Given the description of an element on the screen output the (x, y) to click on. 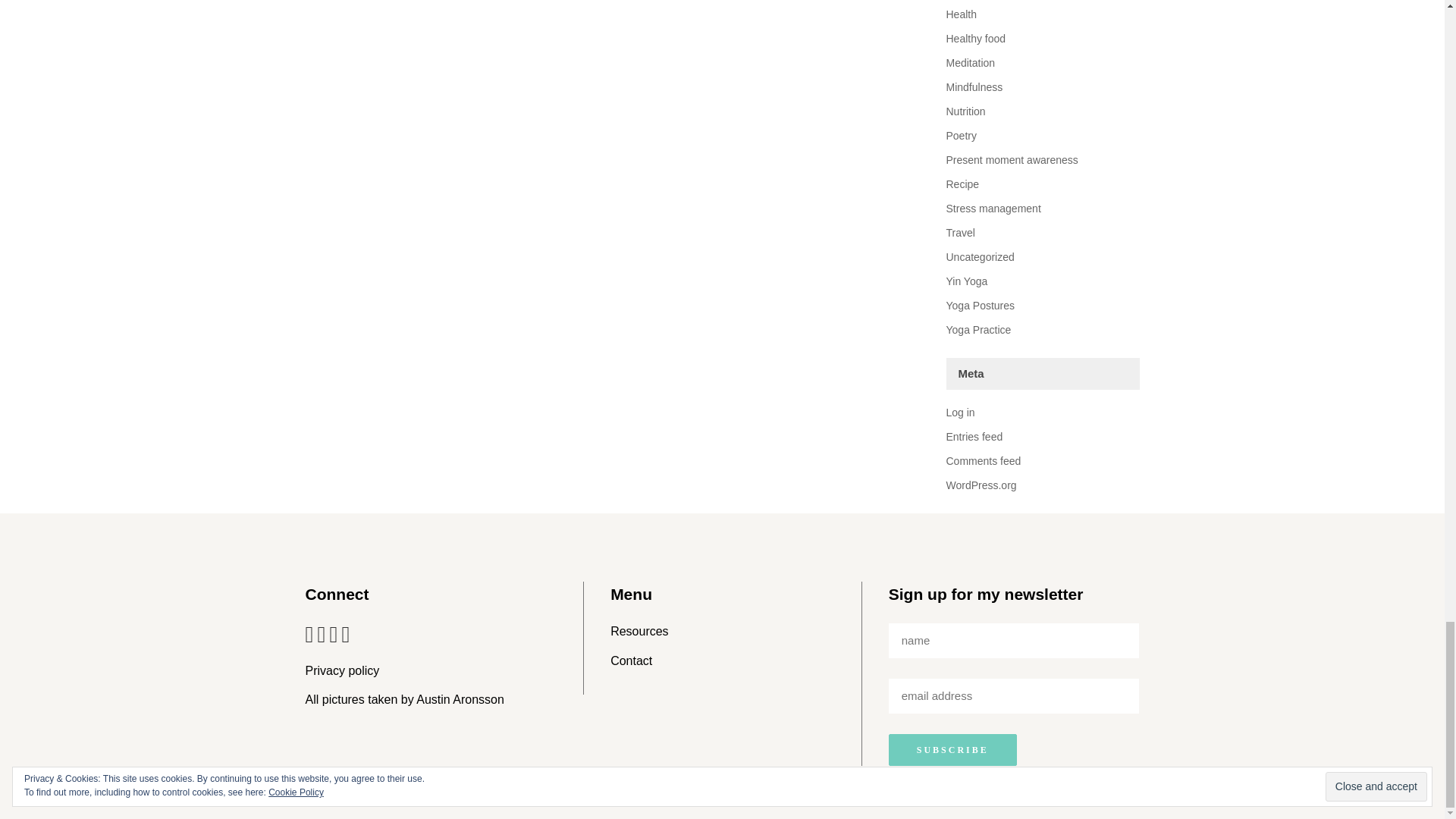
Subscribe (952, 749)
